Given the description of an element on the screen output the (x, y) to click on. 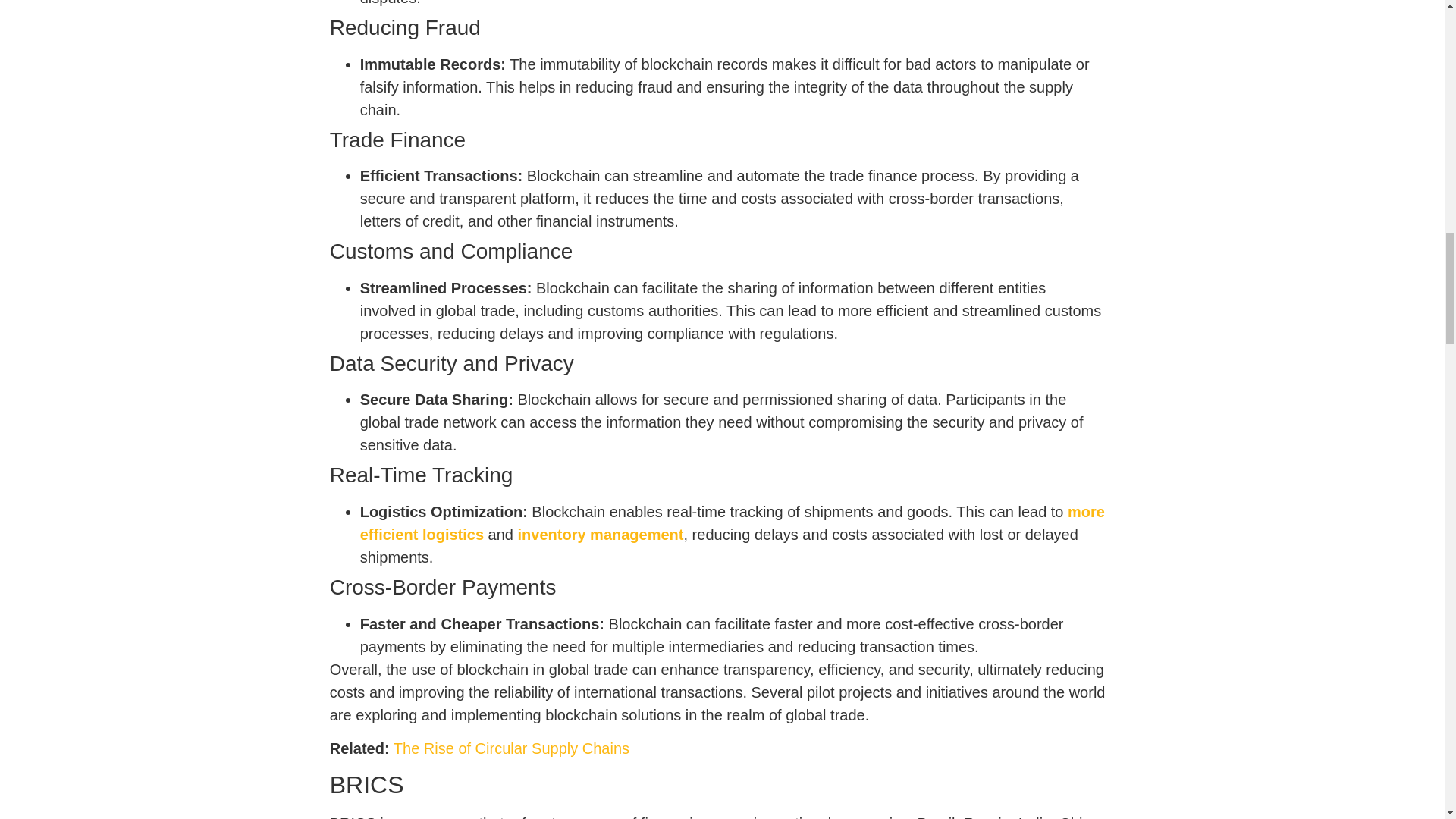
more efficient logistics (732, 522)
inventory management (601, 534)
The Rise of Circular Supply Chains (509, 748)
